Given the description of an element on the screen output the (x, y) to click on. 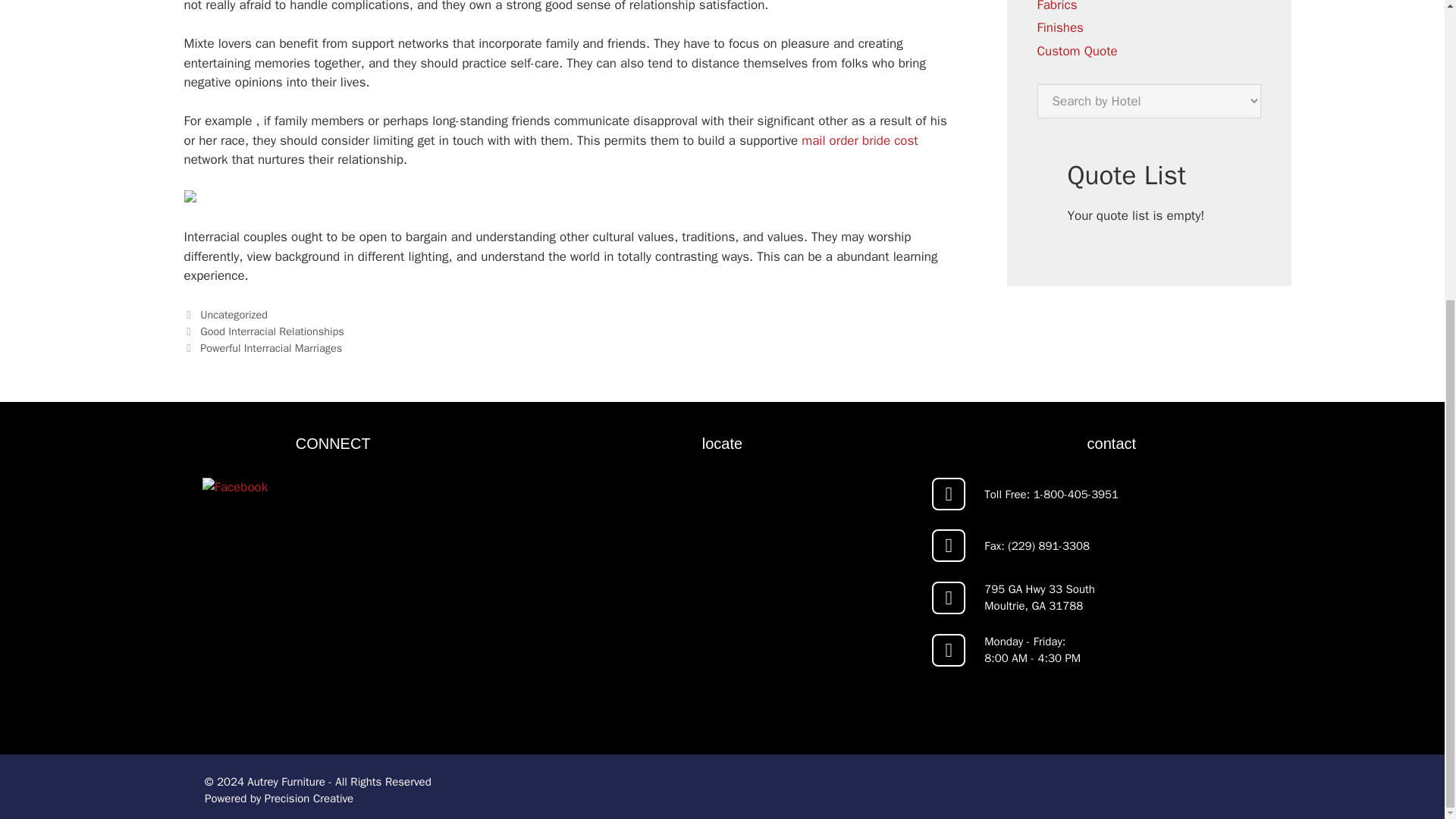
mail order bride cost (859, 139)
Powerful Interracial Marriages (271, 347)
Uncategorized (233, 314)
Good Interracial Relationships (271, 331)
Visit us on Facebook (332, 598)
